Given the description of an element on the screen output the (x, y) to click on. 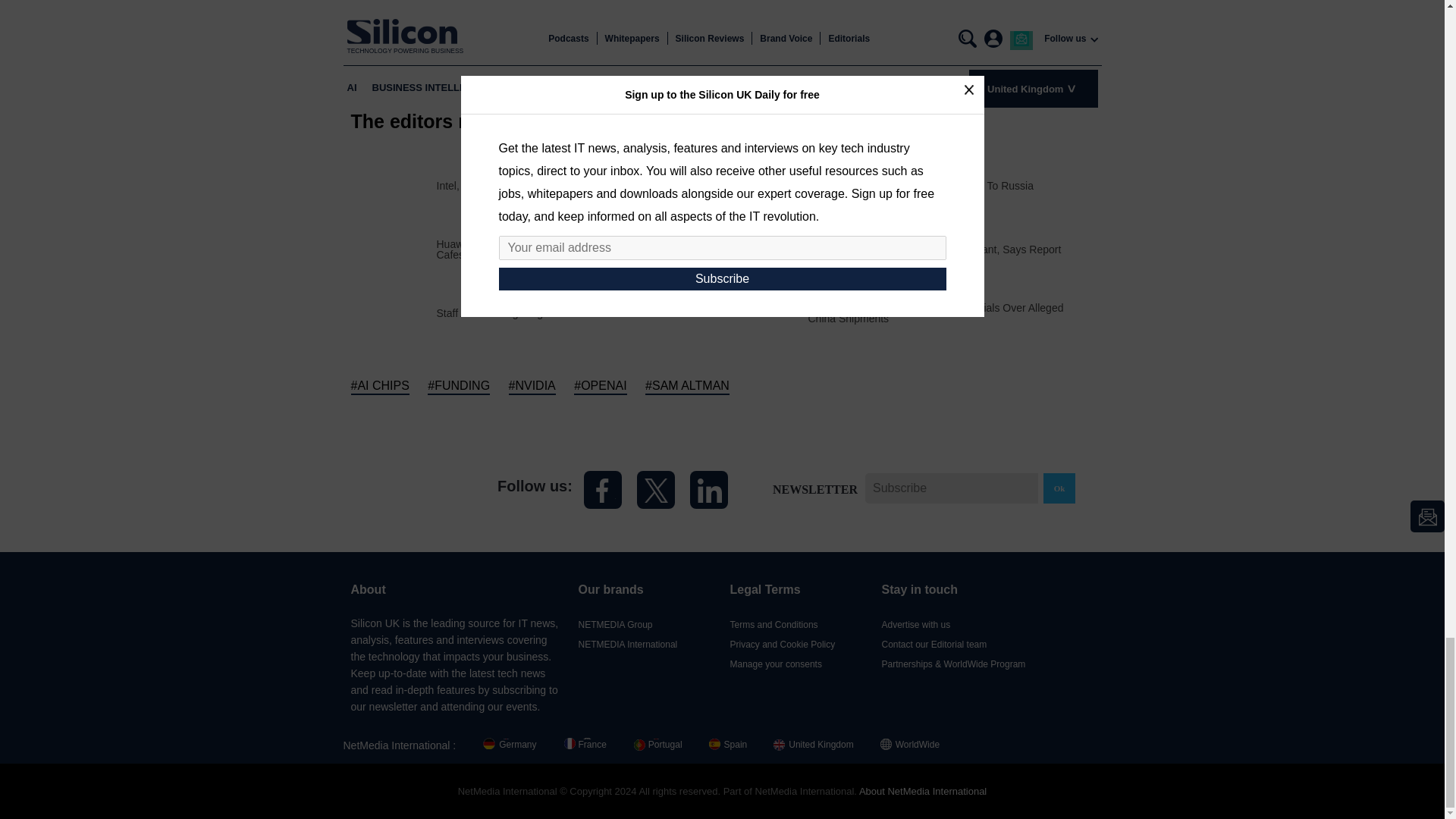
Intel Halting Construction Of Israel Plant, Says Report (934, 249)
Intel, Nvidia Stocks Slide Amidst Chip Turmoil (543, 185)
US Cracks Down On Tech Shipments To Russia (920, 185)
Staff At Samsung Stage First Ever Walk Out (539, 312)
Silicon UK (408, 489)
